Given the description of an element on the screen output the (x, y) to click on. 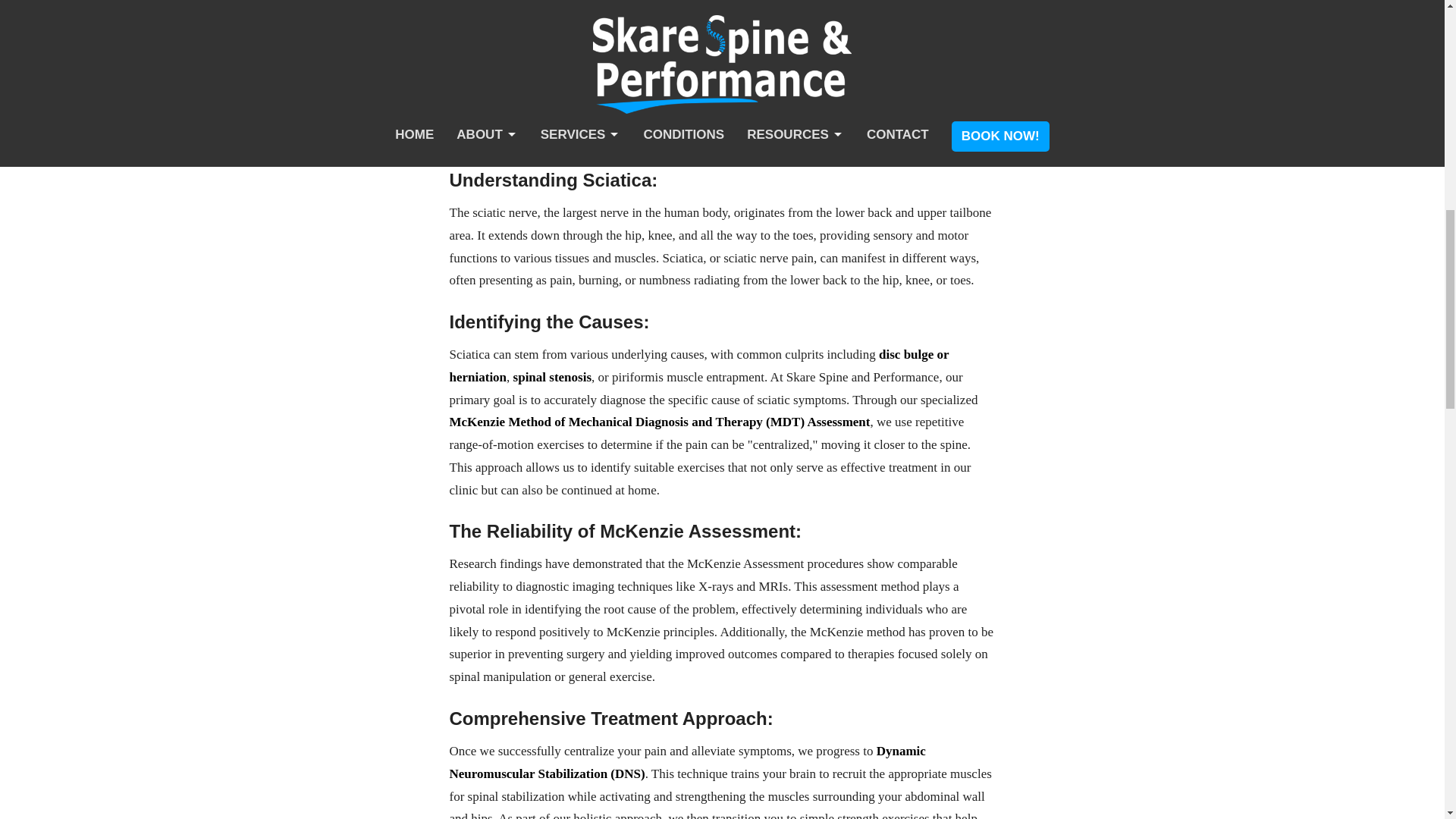
disc bulge or herniation (698, 365)
spinal stenosis (552, 377)
